Given the description of an element on the screen output the (x, y) to click on. 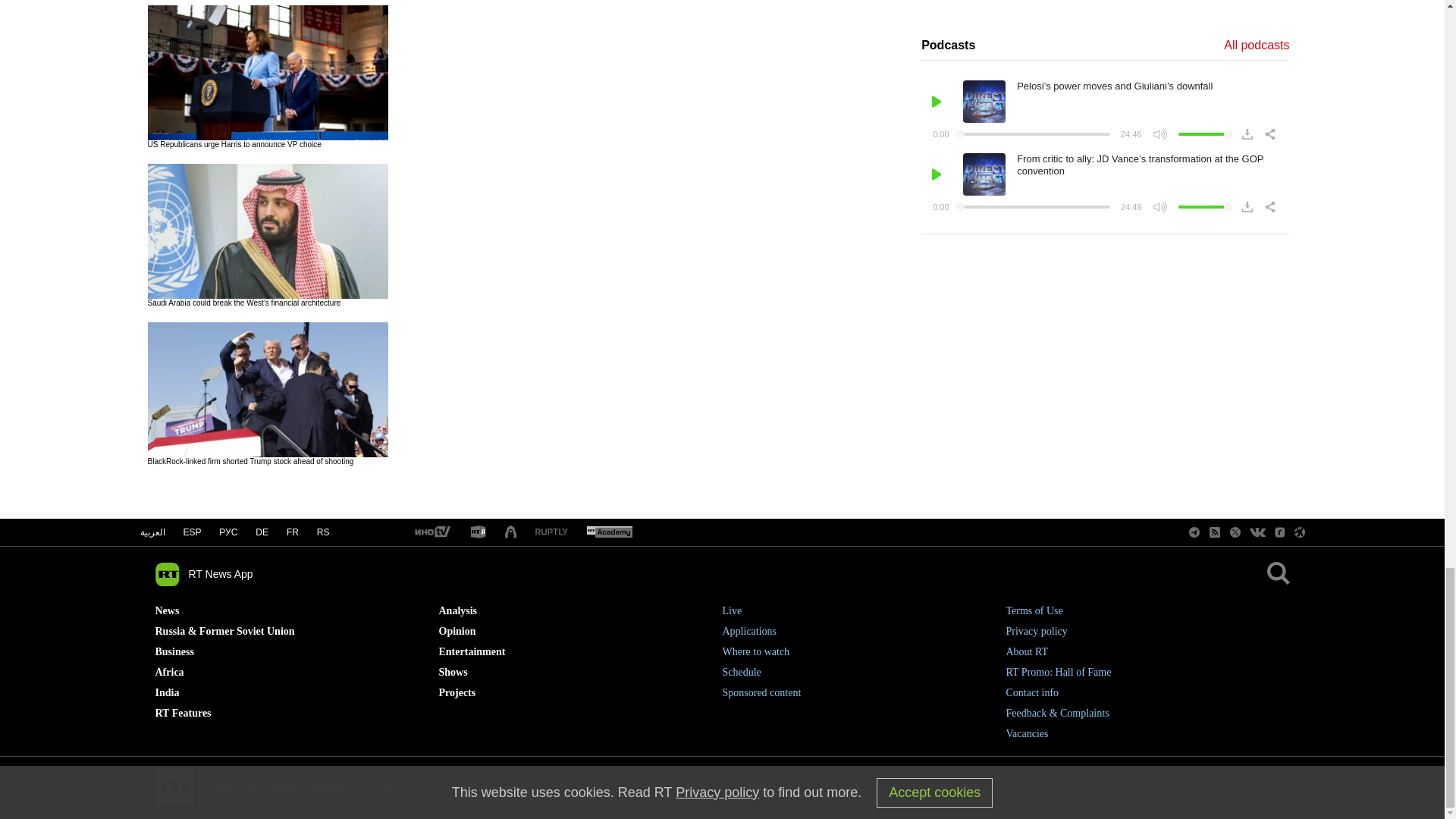
RT  (431, 532)
RT  (608, 532)
RT  (551, 532)
RT  (478, 532)
